Given the description of an element on the screen output the (x, y) to click on. 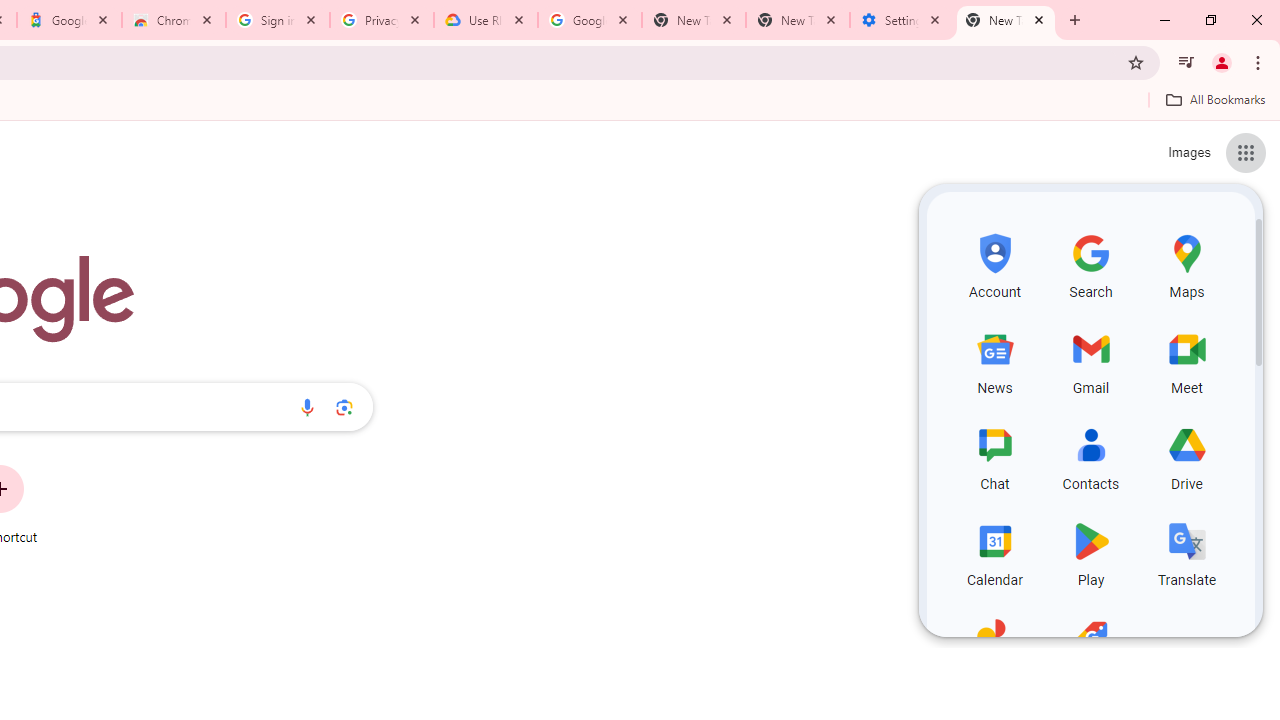
Meet, row 2 of 5 and column 3 of 3 in the first section (1186, 359)
Search, row 1 of 5 and column 2 of 3 in the first section (1090, 263)
Contacts, row 3 of 5 and column 2 of 3 in the first section (1090, 455)
